Given the description of an element on the screen output the (x, y) to click on. 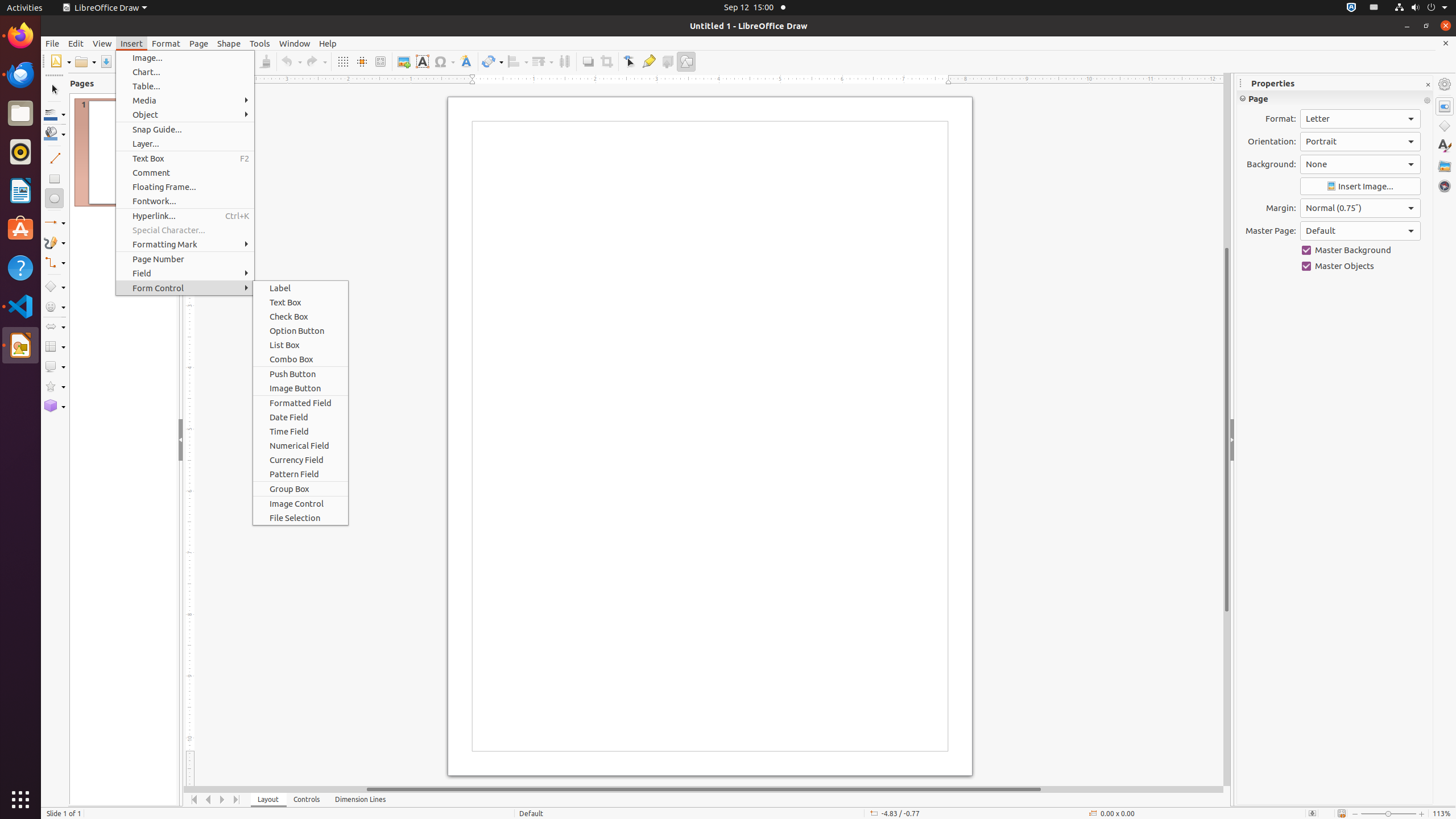
Horizontal scroll bar Element type: scroll-bar (703, 789)
Edit Points Element type: push-button (629, 61)
Insert Image Element type: push-button (1360, 186)
Comment Element type: menu-item (185, 172)
File Element type: menu (51, 43)
